Given the description of an element on the screen output the (x, y) to click on. 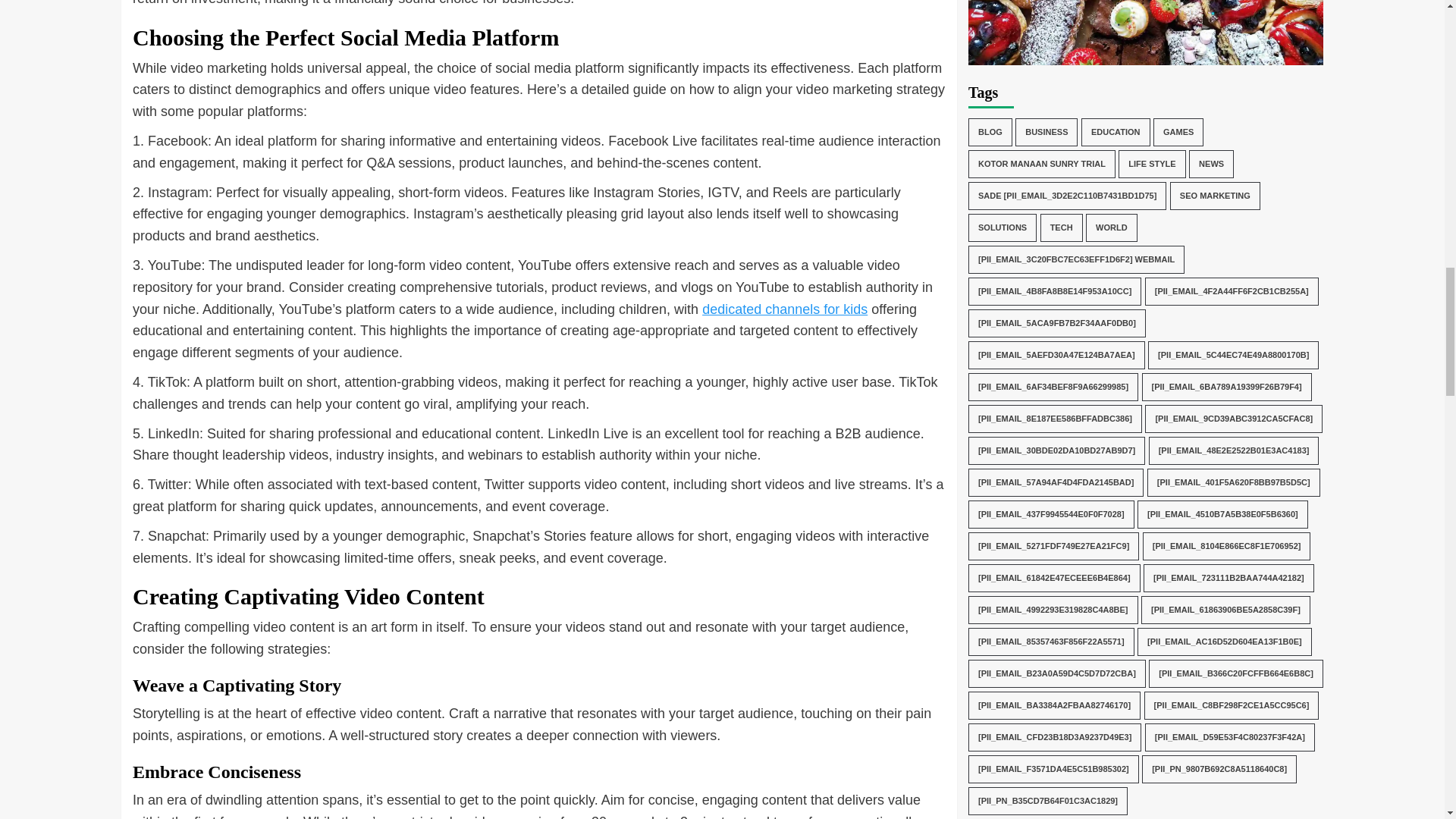
dedicated channels for kids (784, 309)
